Given the description of an element on the screen output the (x, y) to click on. 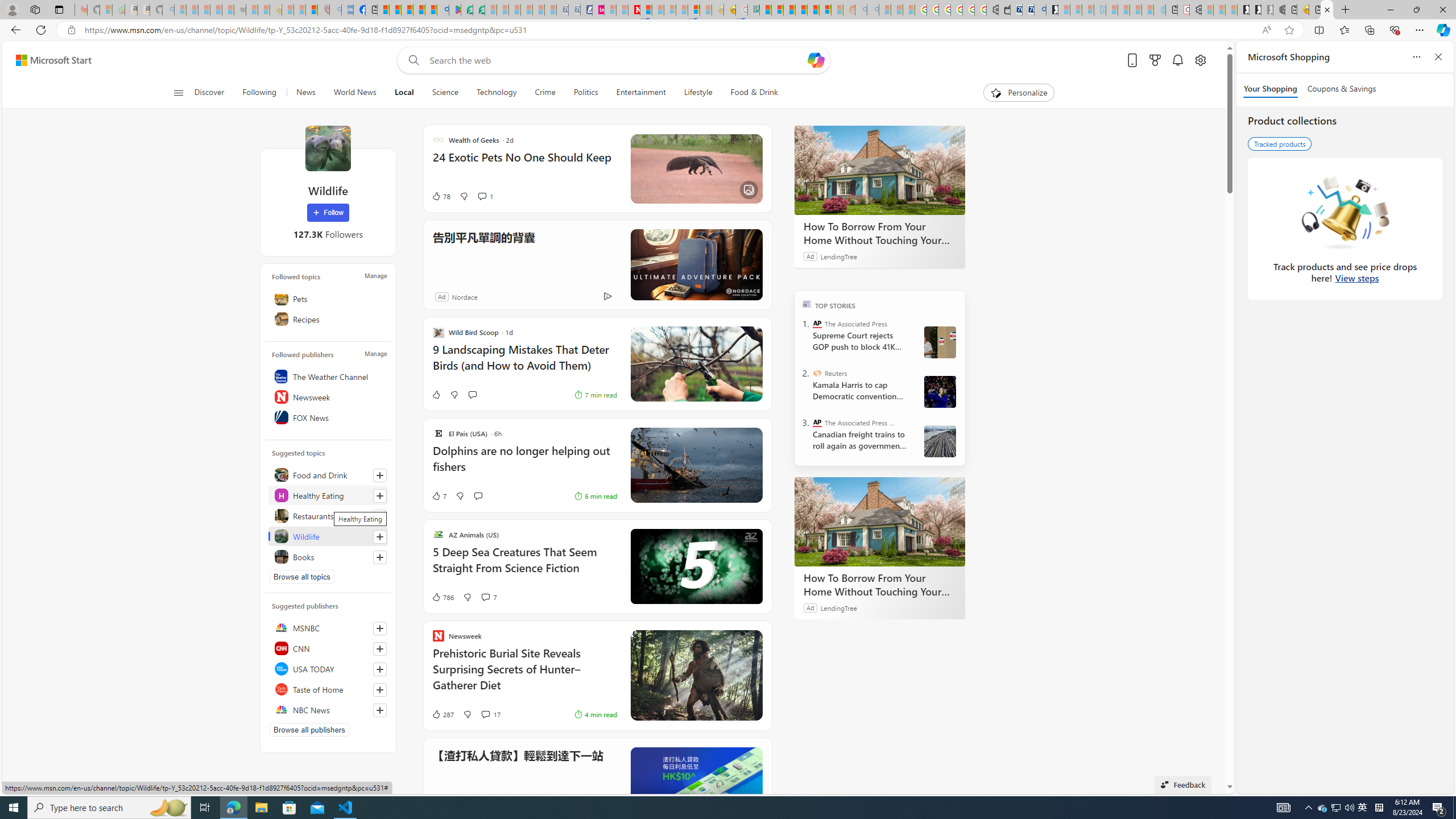
Personalize (1019, 92)
78 Like (440, 196)
Cheap Car Rentals - Save70.com (1028, 9)
Latest Politics News & Archive | Newsweek.com (634, 9)
The Associated Press (816, 323)
Restaurants (327, 515)
Cheap Hotels - Save70.com - Sleeping (574, 9)
